Given the description of an element on the screen output the (x, y) to click on. 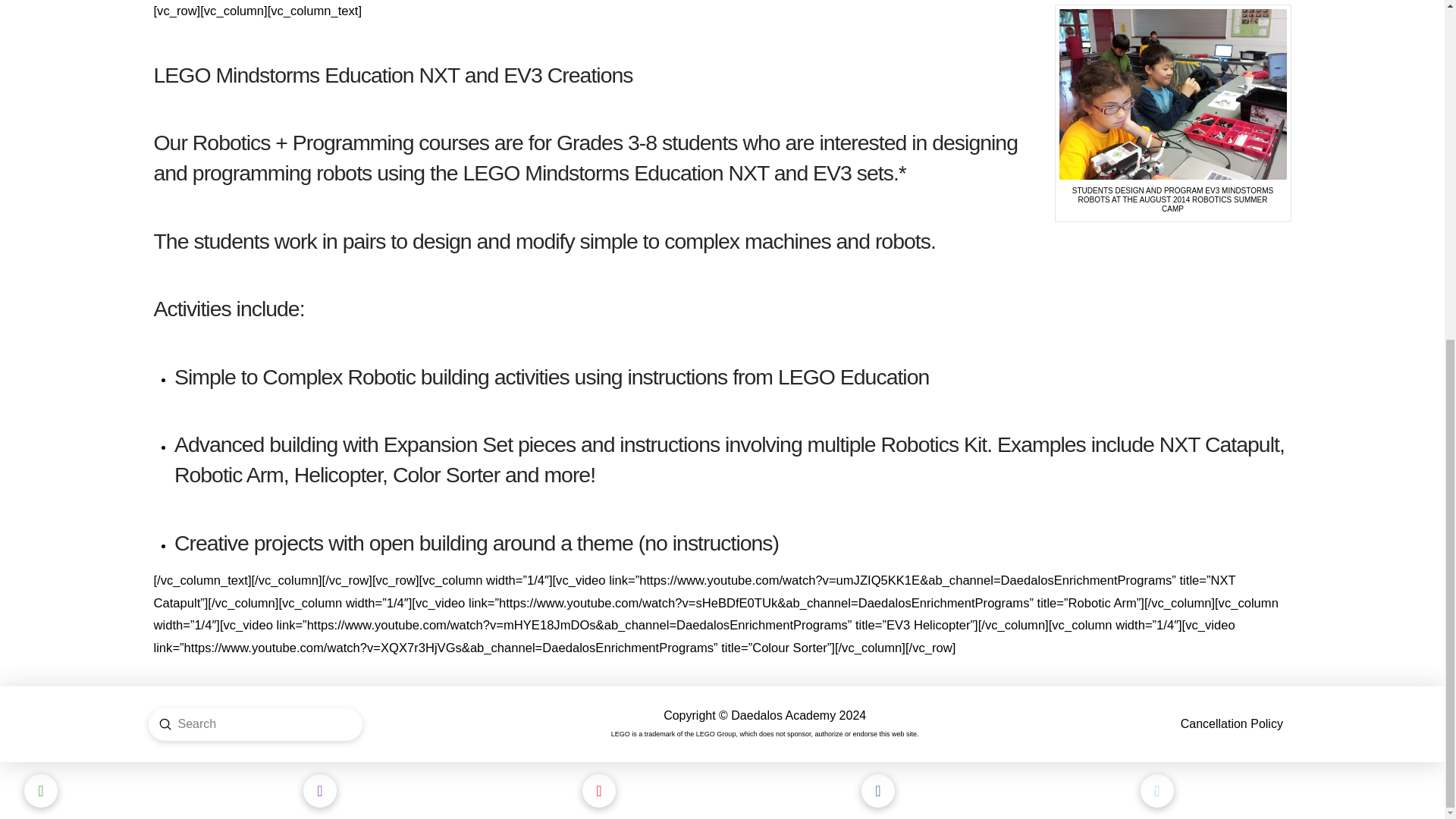
Robotic Arm (228, 474)
Color Sorter (446, 474)
Cancellation Policy (1231, 724)
Helicopter (337, 474)
NXT Catapult (1218, 444)
Submit (164, 724)
